Given the description of an element on the screen output the (x, y) to click on. 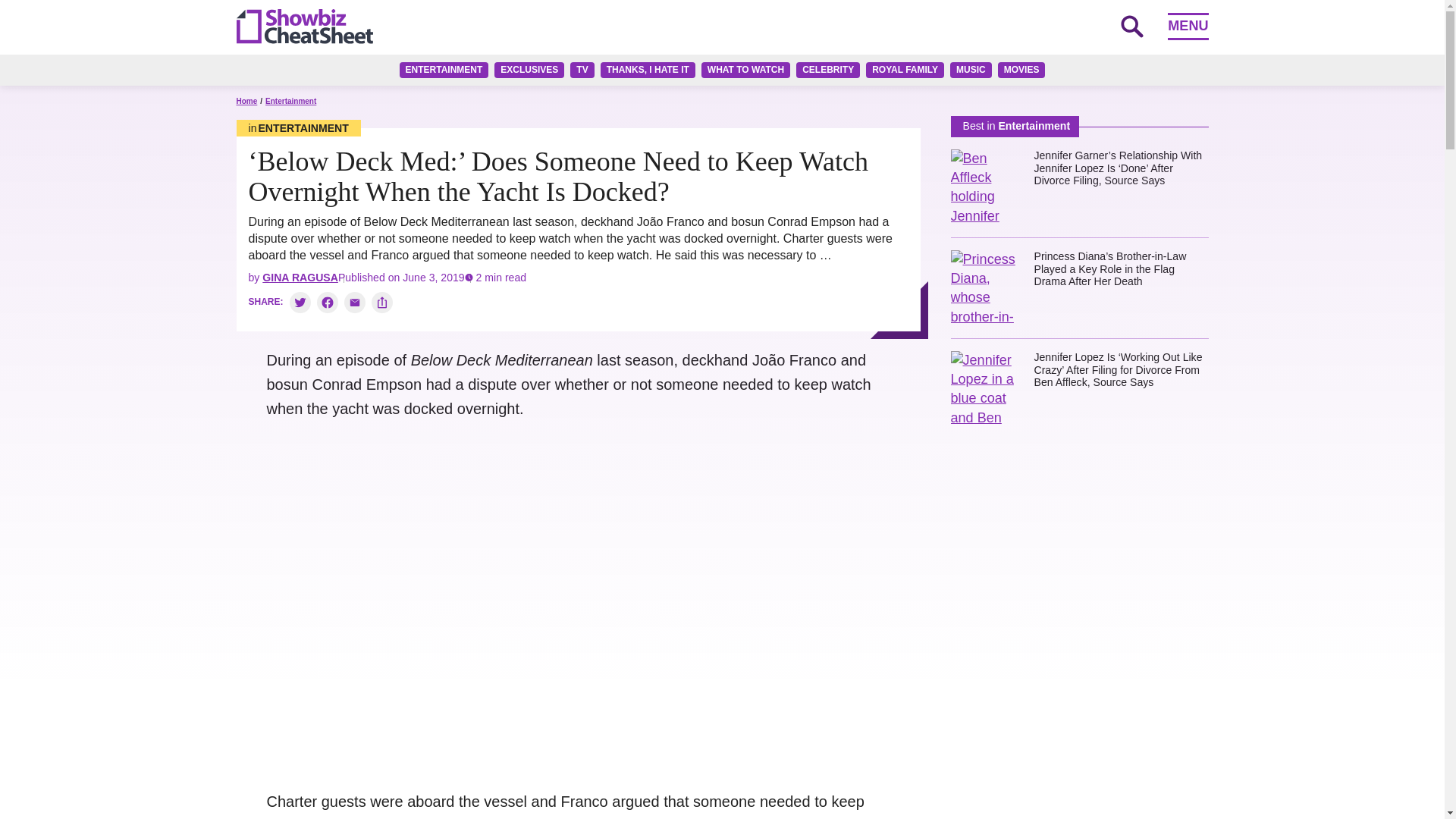
Showbiz Cheat Sheet (303, 26)
TV (582, 69)
Home (246, 101)
MENU (1187, 26)
Entertainment (298, 127)
ROYAL FAMILY (904, 69)
Share on Twitter: (300, 301)
MUSIC (970, 69)
WHAT TO WATCH (745, 69)
